Given the description of an element on the screen output the (x, y) to click on. 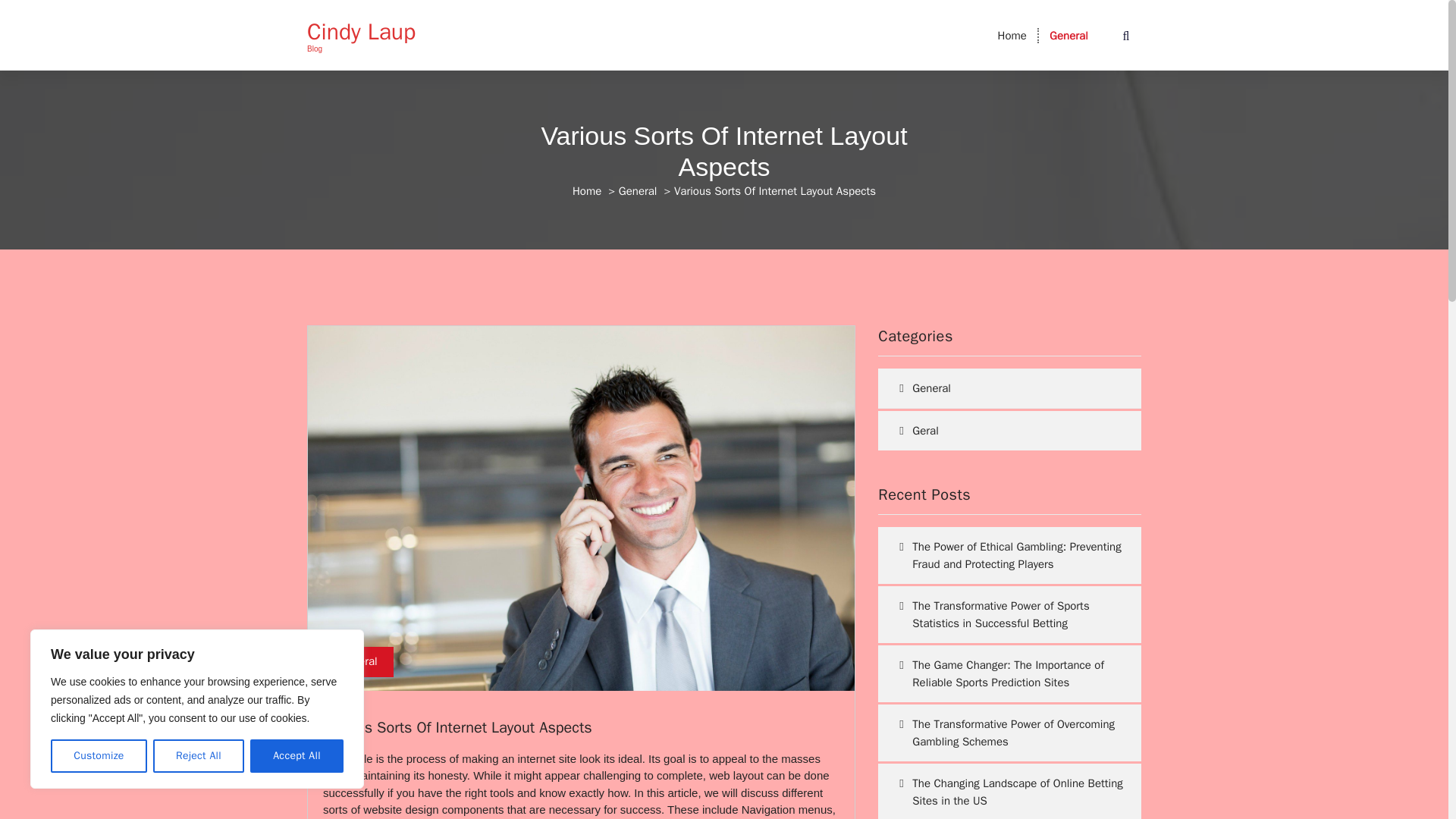
Accept All (296, 756)
General (1068, 35)
General (1068, 35)
Home (586, 191)
Home (1012, 35)
Home (1012, 35)
Customize (98, 756)
Cindy Laup (360, 31)
General (358, 662)
General (638, 191)
Reject All (198, 756)
